Given the description of an element on the screen output the (x, y) to click on. 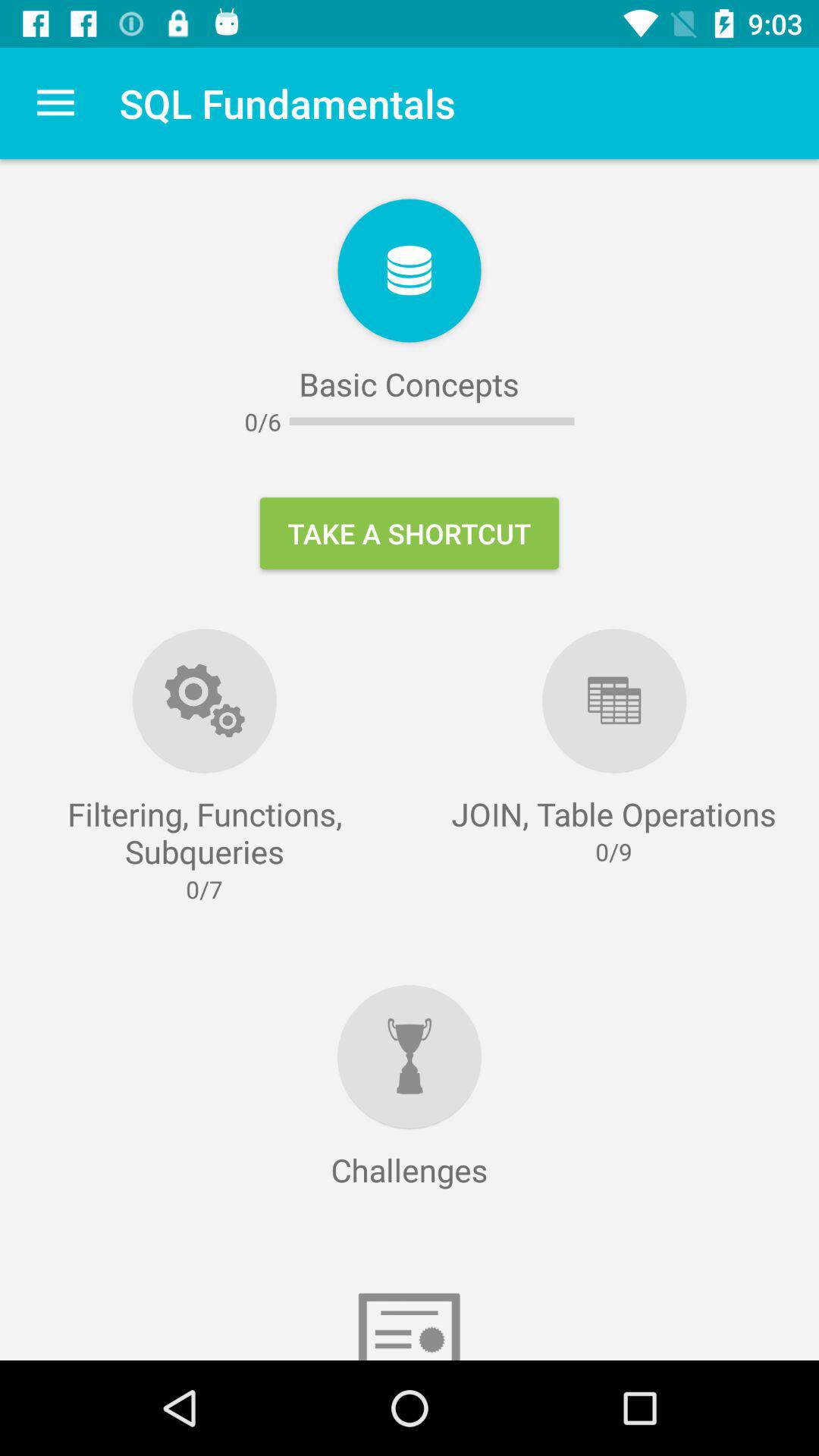
flip until the take a shortcut item (409, 533)
